Given the description of an element on the screen output the (x, y) to click on. 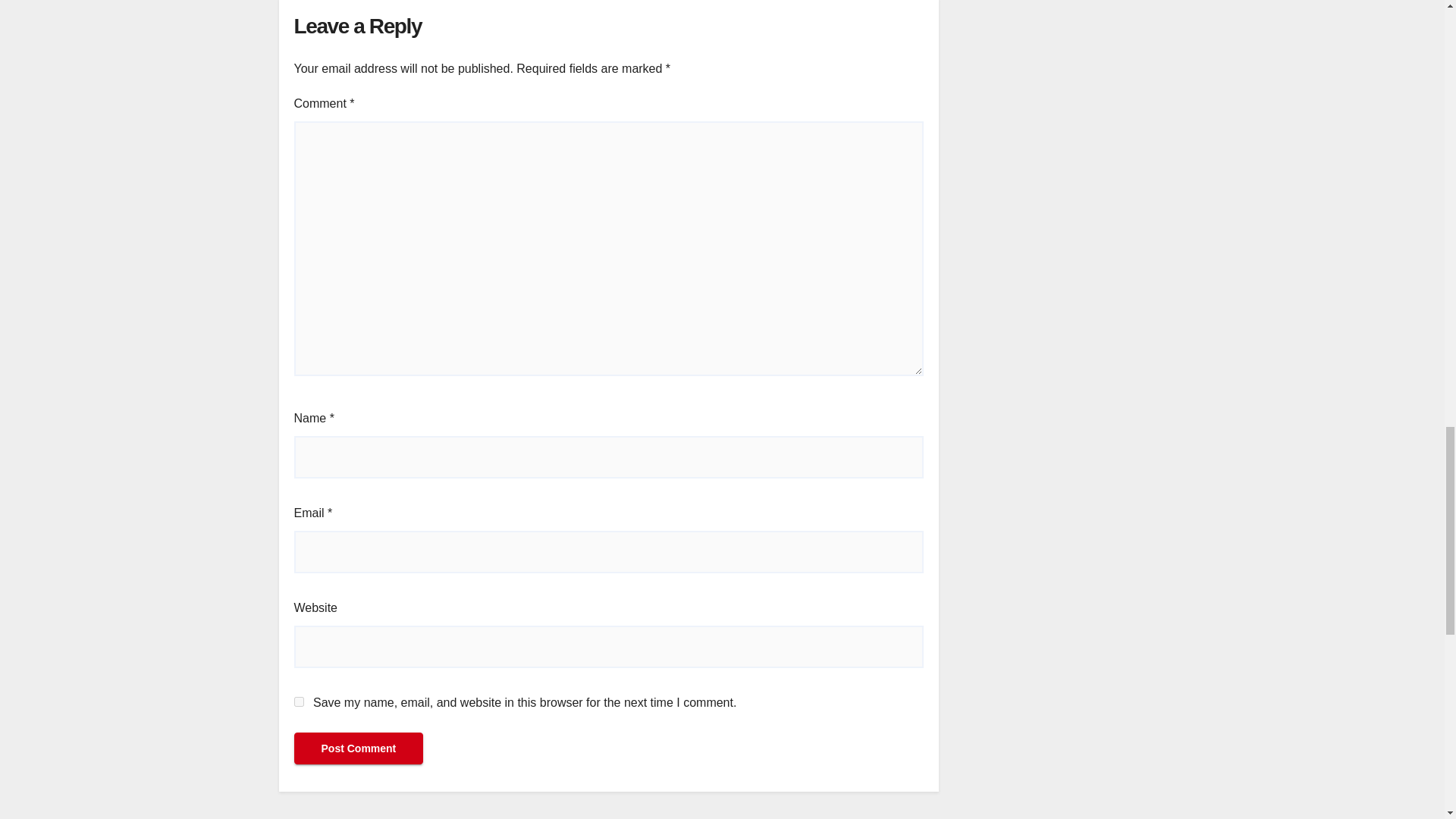
yes (299, 701)
Post Comment (358, 748)
